Given the description of an element on the screen output the (x, y) to click on. 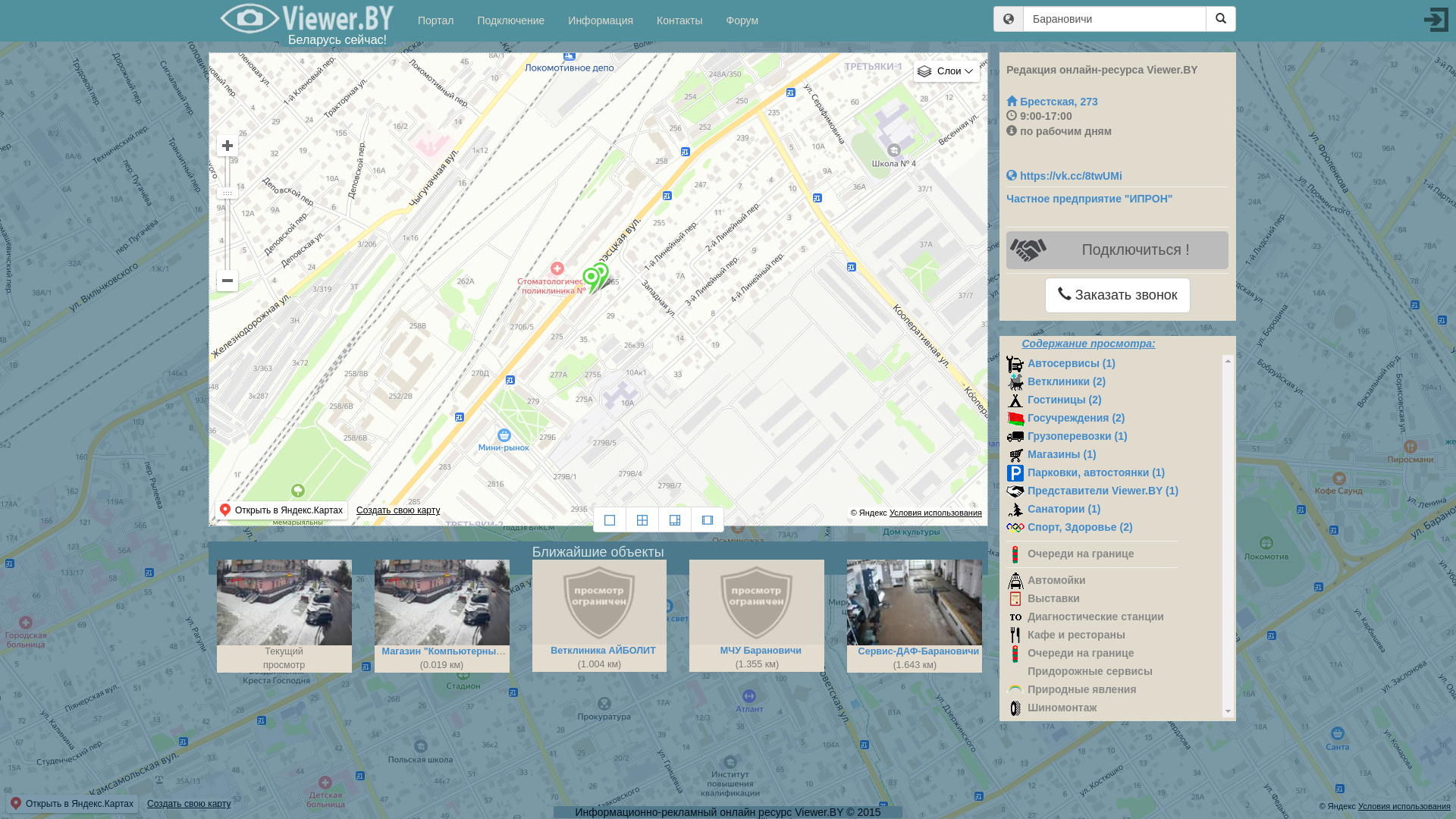
https://vk.cc/8twUMi Element type: text (1063, 175)
